Given the description of an element on the screen output the (x, y) to click on. 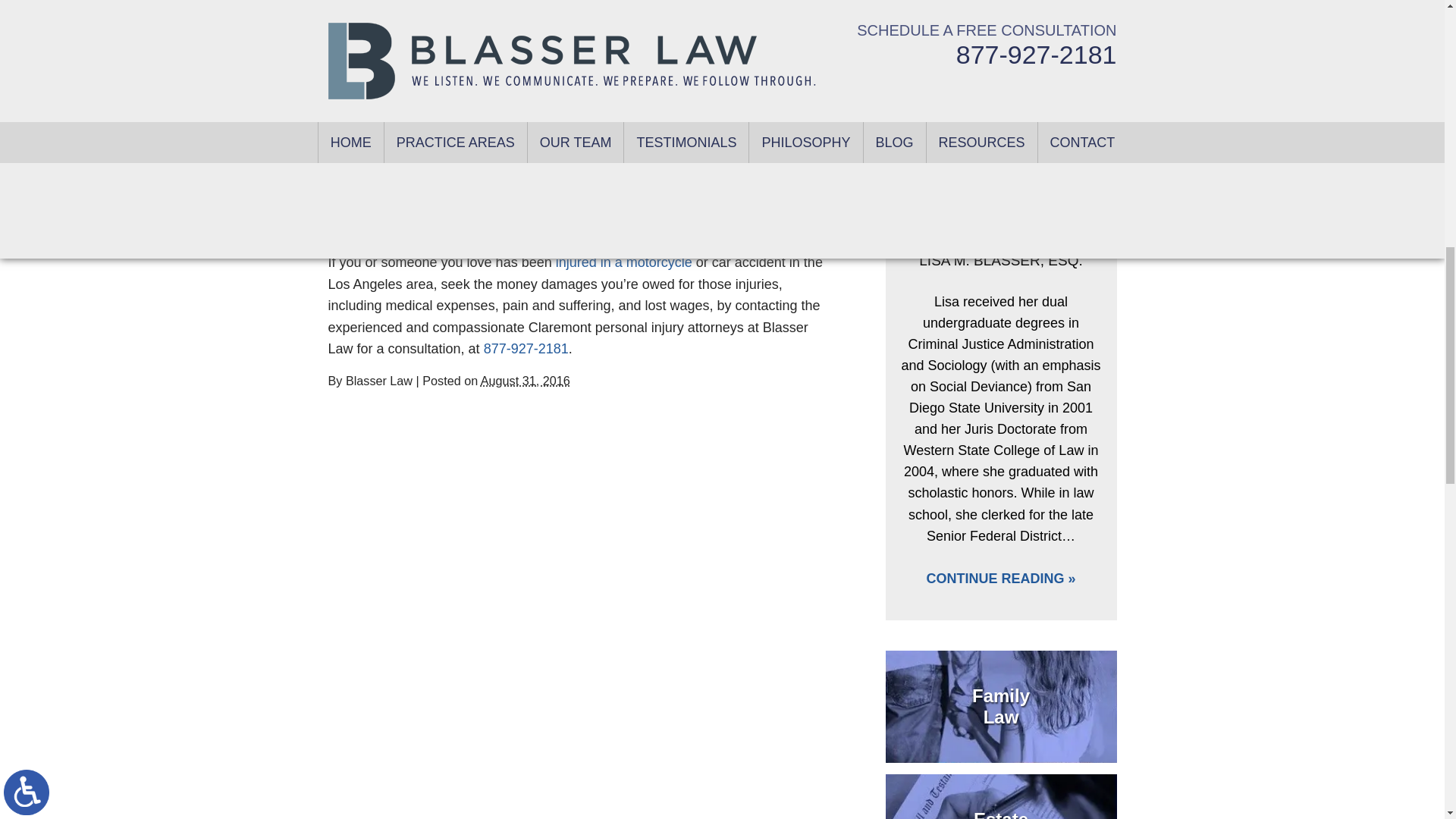
Family Law Attorney (1000, 706)
Estate Planning Attorney (1000, 796)
2016-08-31T11:40:52-0700 (525, 380)
